Given the description of an element on the screen output the (x, y) to click on. 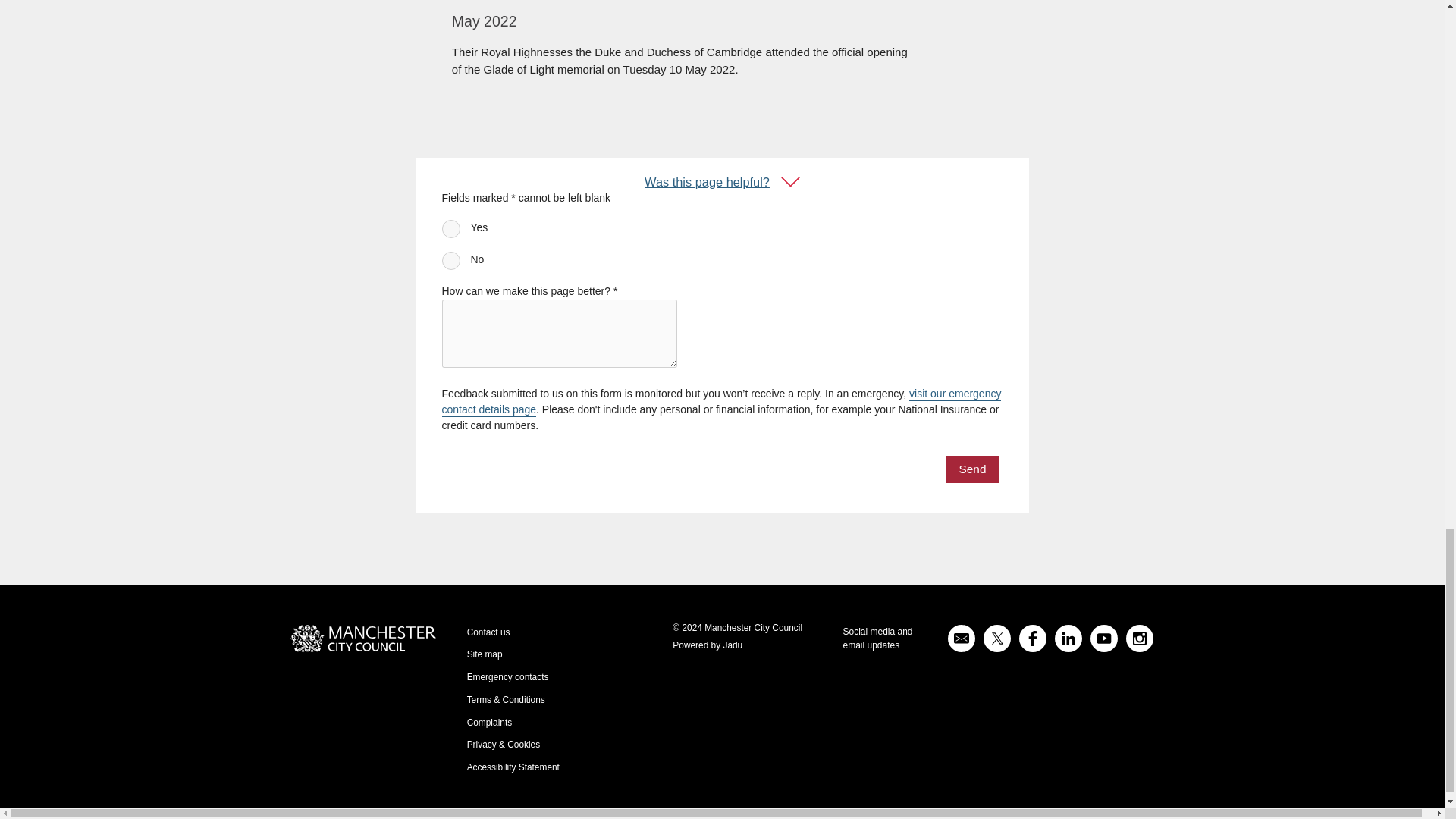
Send (972, 469)
1 (450, 229)
-1 (450, 260)
